Given the description of an element on the screen output the (x, y) to click on. 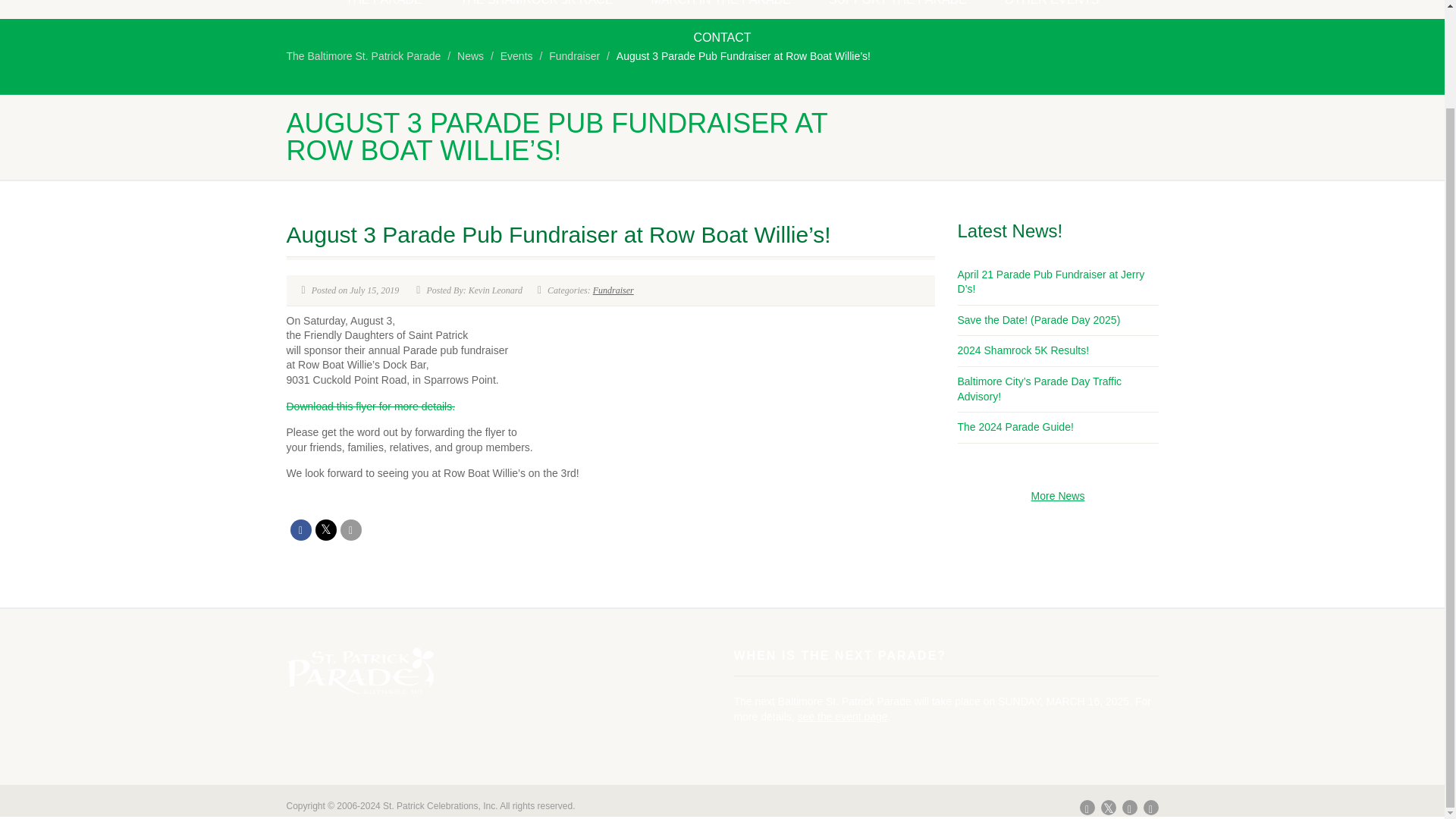
Events (516, 55)
Share on Facebook (300, 529)
THE PARADE (383, 9)
2024 Shamrock 5K Results! (1022, 350)
Go to the Fundraiser Category archives. (573, 55)
THE SHAMROCK 5K RACE (536, 9)
News (470, 55)
MARCH IN THE PARADE (720, 9)
Fundraiser (612, 290)
Go to News. (470, 55)
